Given the description of an element on the screen output the (x, y) to click on. 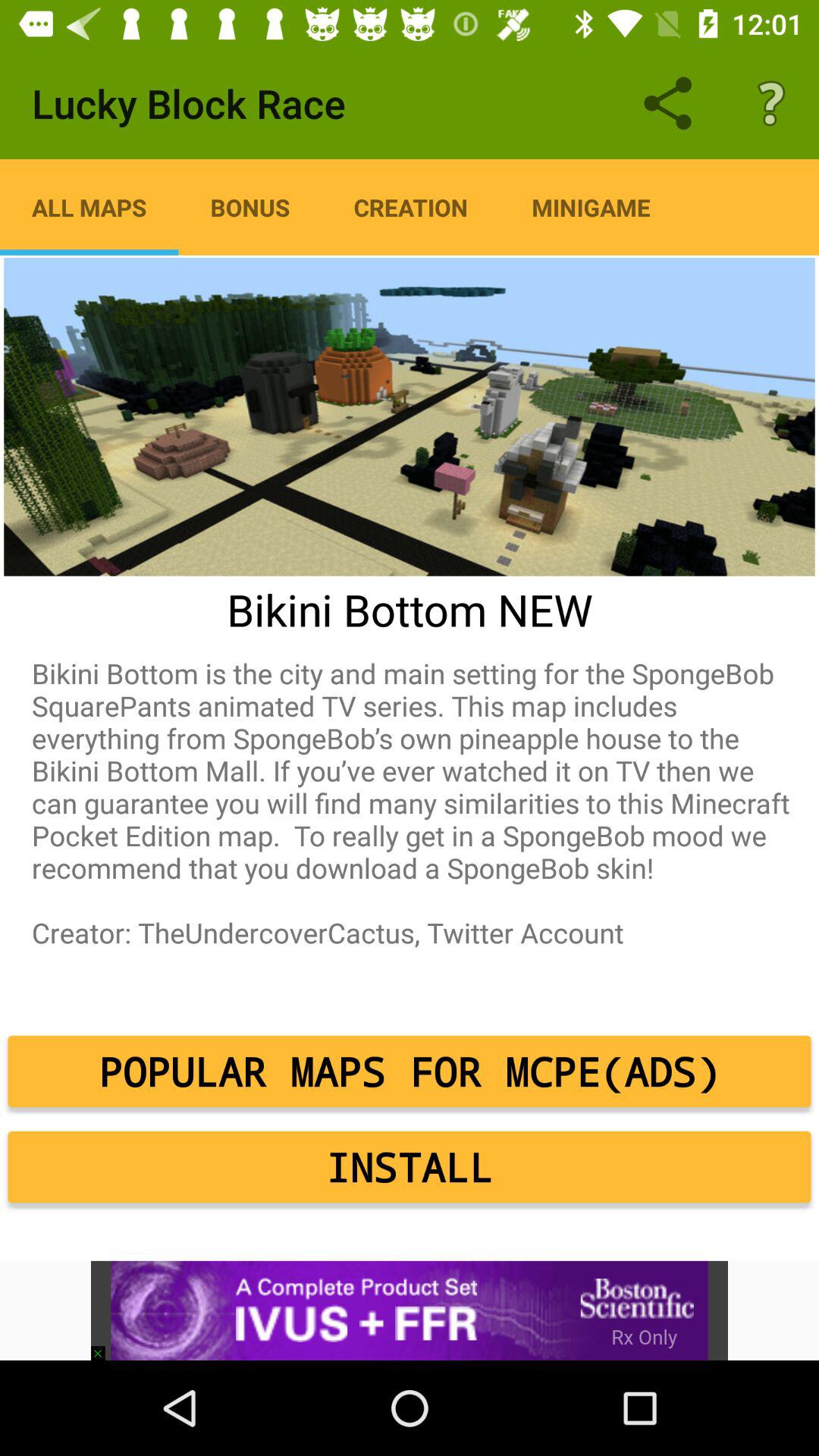
jump to creation (410, 207)
